Given the description of an element on the screen output the (x, y) to click on. 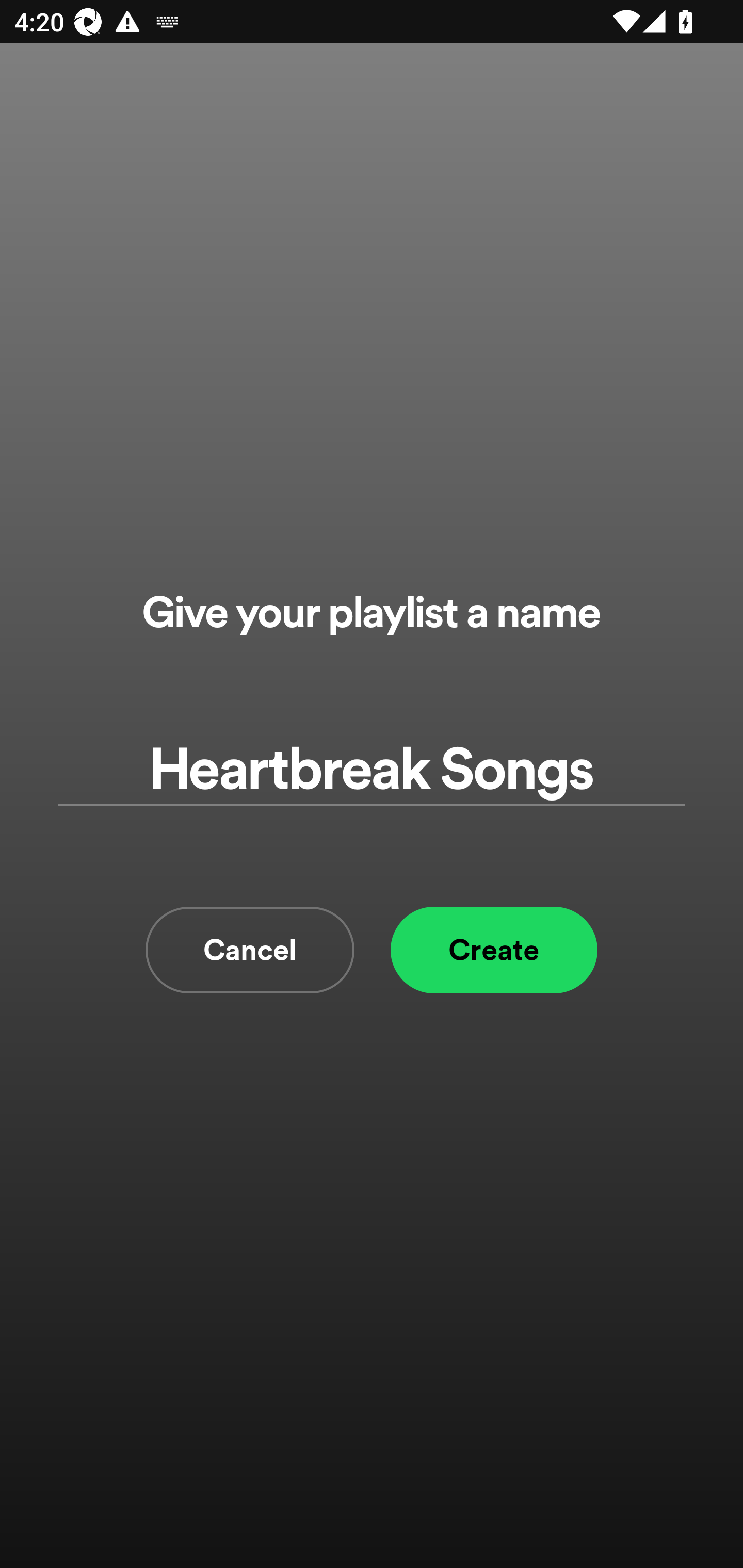
Heartbreak Songs Add a playlist name (371, 769)
Cancel (249, 950)
Create (493, 950)
